Given the description of an element on the screen output the (x, y) to click on. 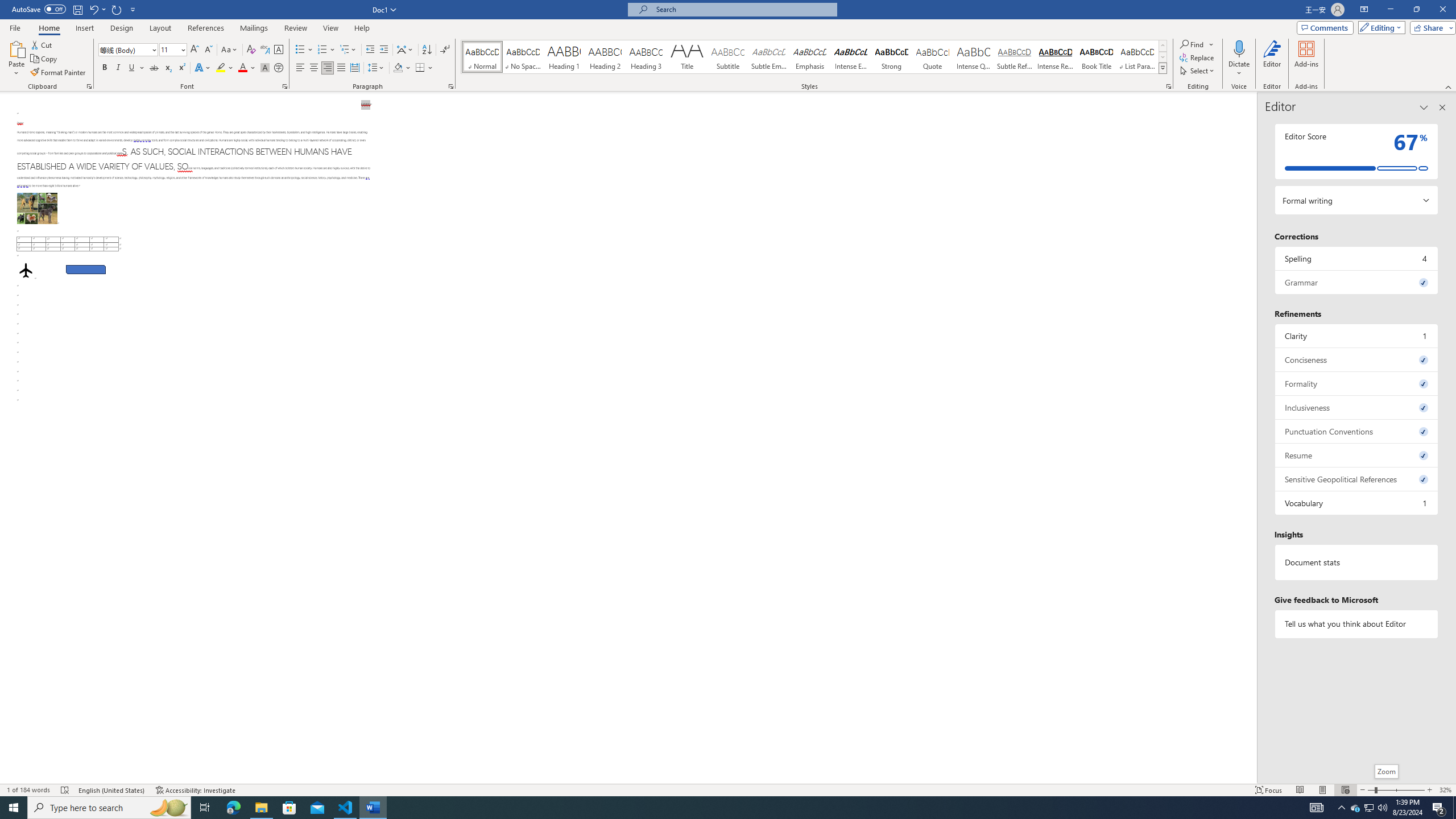
Emphasis (809, 56)
Clarity, 1 issue. Press space or enter to review items. (1356, 335)
Conciseness, 0 issues. Press space or enter to review items. (1356, 359)
Vocabulary, 1 issue. Press space or enter to review items. (1356, 502)
Strong (891, 56)
